Given the description of an element on the screen output the (x, y) to click on. 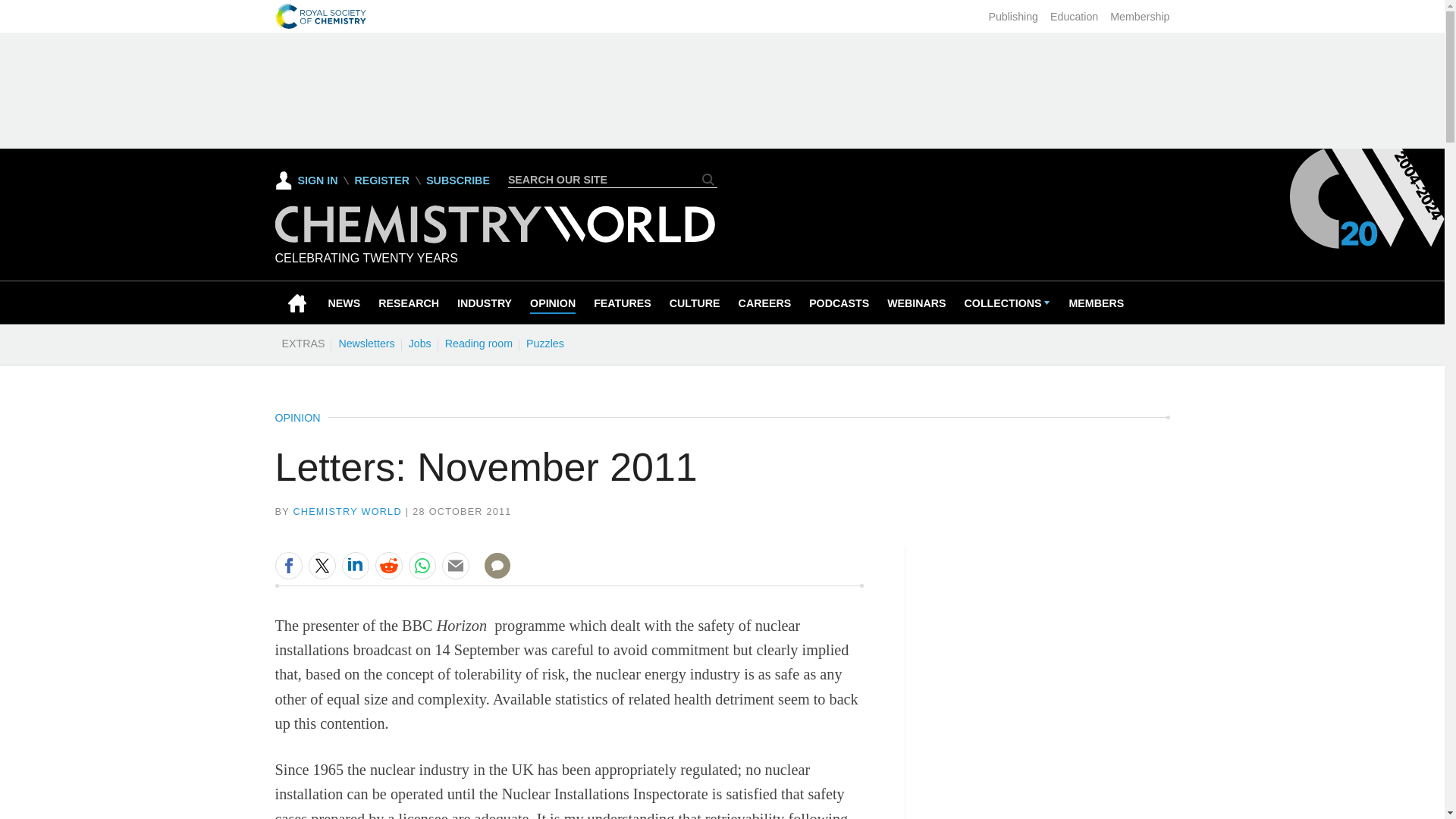
Newsletters (366, 343)
Chemistry World (494, 238)
Reading room (478, 343)
Share this on Reddit (387, 565)
NO COMMENTS (492, 574)
REGISTER (381, 180)
Membership (1139, 16)
SIGN IN (306, 180)
Share this on WhatsApp (421, 565)
SUBSCRIBE (457, 180)
Puzzles (544, 343)
Education (1073, 16)
SEARCH (708, 179)
Share this on LinkedIn (354, 565)
Share this by email (454, 565)
